Given the description of an element on the screen output the (x, y) to click on. 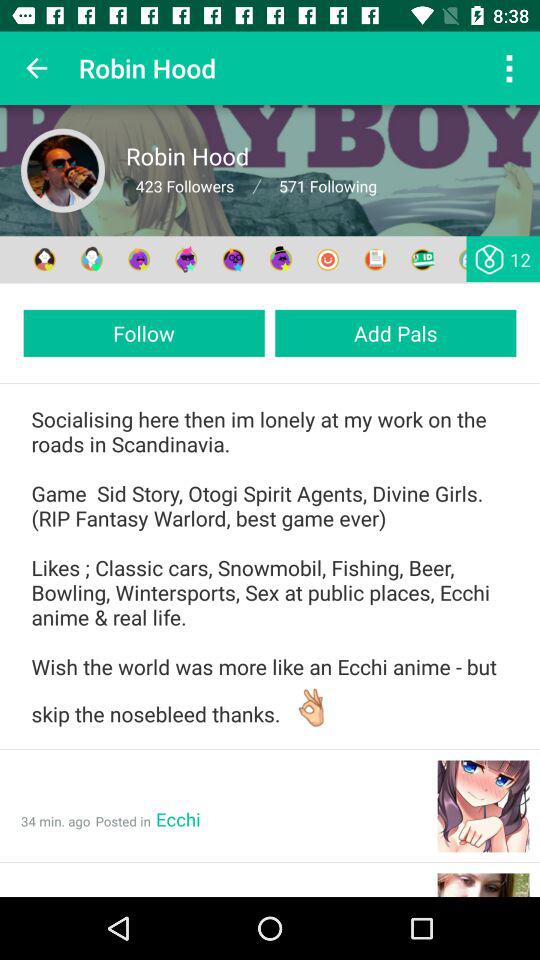
profile avatar (63, 170)
